Given the description of an element on the screen output the (x, y) to click on. 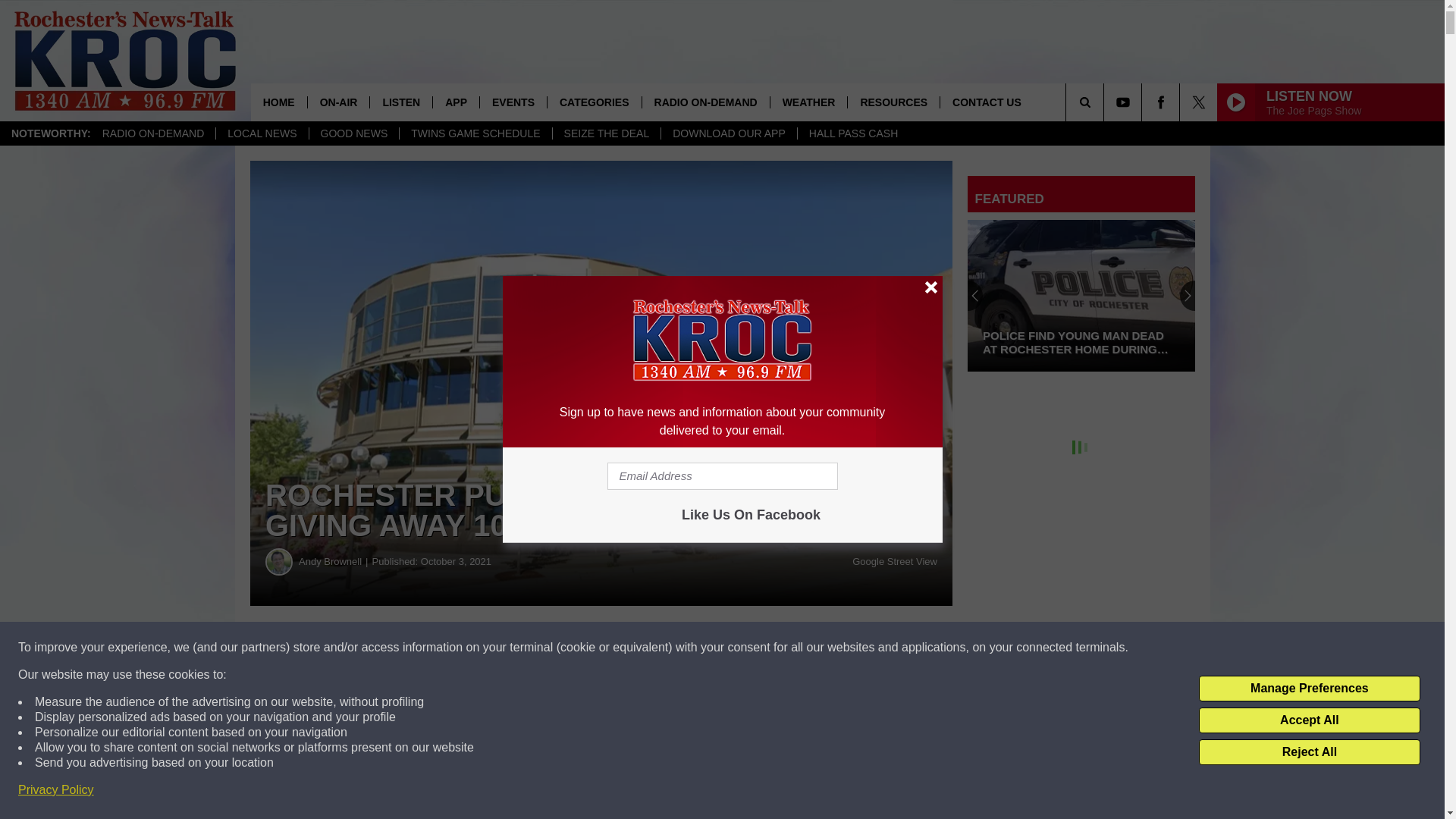
Share on Twitter (741, 647)
Privacy Policy (55, 789)
RADIO ON-DEMAND (152, 133)
HALL PASS CASH (853, 133)
LOCAL NEWS (261, 133)
Accept All (1309, 720)
SEARCH (1106, 102)
ON-AIR (338, 102)
HOME (278, 102)
Reject All (1309, 751)
DOWNLOAD OUR APP (728, 133)
Share on Facebook (460, 647)
SEARCH (1106, 102)
LISTEN (400, 102)
GOOD NEWS (353, 133)
